Given the description of an element on the screen output the (x, y) to click on. 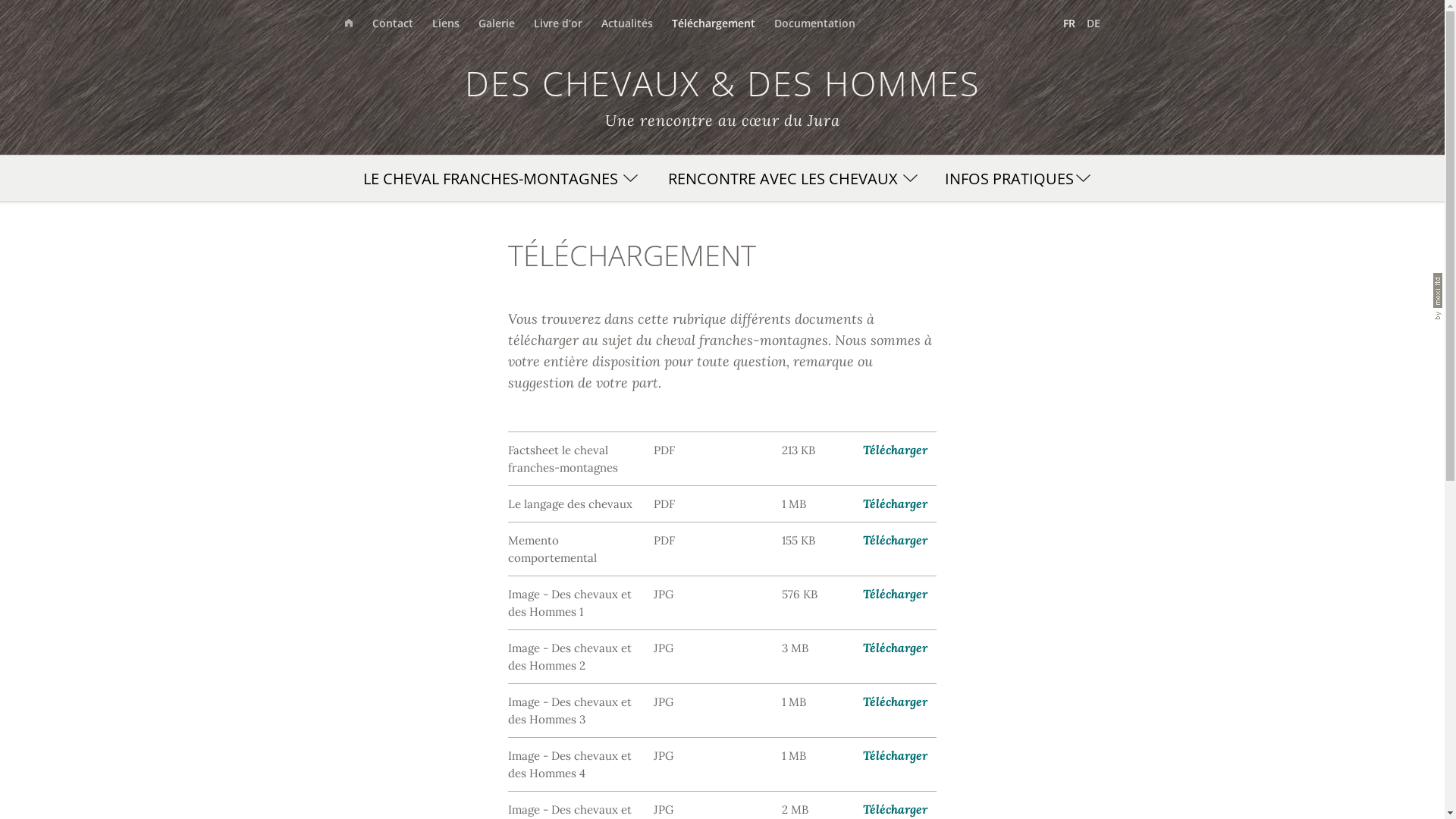
Liens Element type: text (455, 23)
FR Element type: text (1074, 23)
LE CHEVAL FRANCHES-MONTAGNES Element type: text (495, 177)
Galerie Element type: text (505, 23)
Documentation Element type: text (823, 23)
Contact Element type: text (401, 23)
RENCONTRE AVEC LES CHEVAUX Element type: text (788, 177)
INFOS PRATIQUES Element type: text (1014, 177)
DE Element type: text (1093, 23)
